Given the description of an element on the screen output the (x, y) to click on. 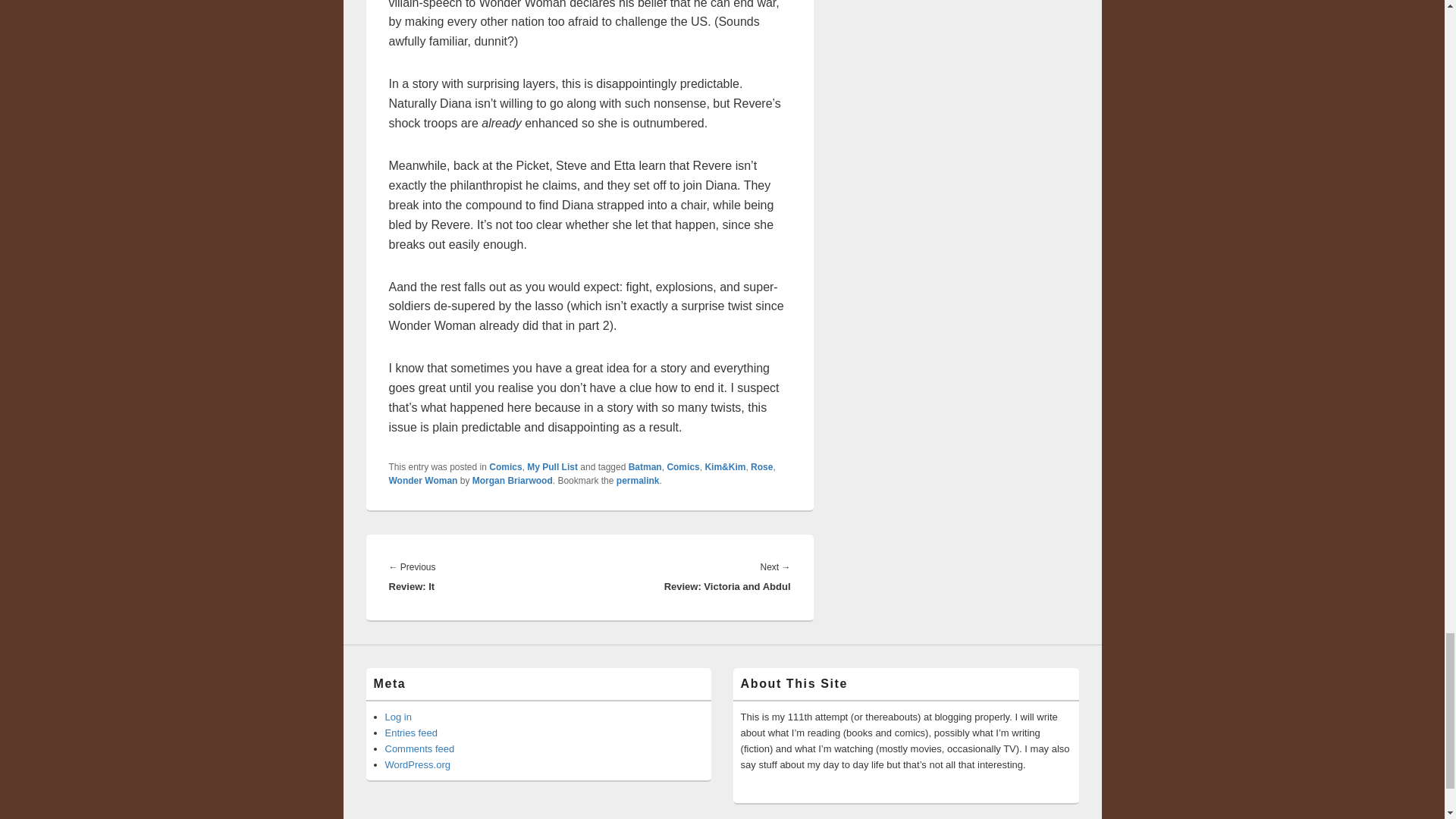
Wonder Woman (422, 480)
permalink (637, 480)
My Pull List (552, 466)
Batman (645, 466)
Rose (762, 466)
Comics (682, 466)
Comics (505, 466)
Morgan Briarwood (512, 480)
